Given the description of an element on the screen output the (x, y) to click on. 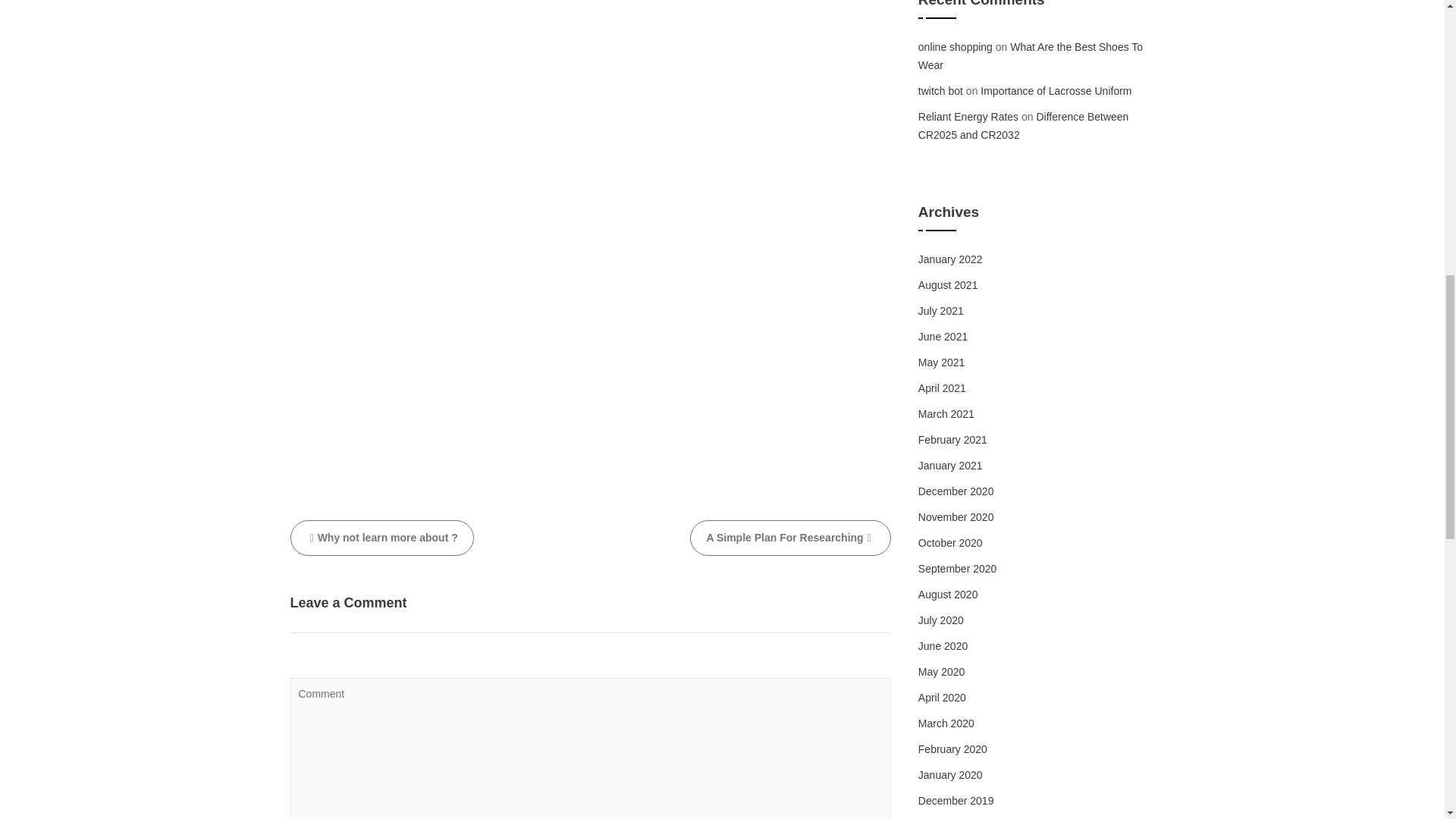
January 2021 (950, 465)
online shopping (955, 46)
April 2021 (942, 387)
Importance of Lacrosse Uniform (1055, 91)
A Simple Plan For Researching (789, 538)
May 2021 (940, 362)
November 2020 (956, 517)
What Are the Best Shoes To Wear (1030, 55)
Reliant Energy Rates (967, 116)
January 2022 (950, 259)
